Given the description of an element on the screen output the (x, y) to click on. 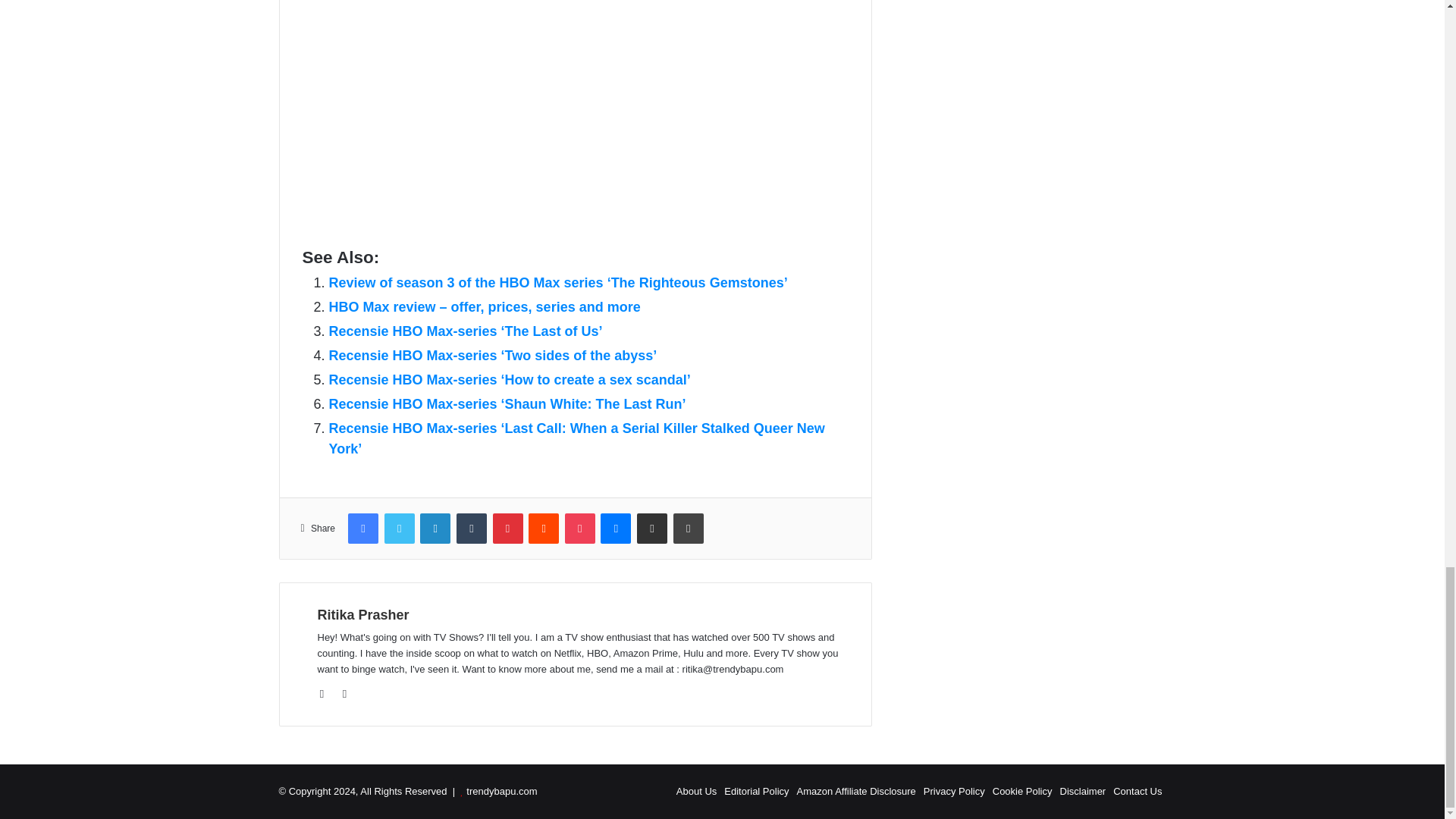
Facebook (362, 528)
Share via Email (651, 528)
Facebook (362, 528)
Pocket (579, 528)
Print (687, 528)
Twitter (399, 528)
Messenger (614, 528)
Reddit (543, 528)
Twitter (399, 528)
LinkedIn (434, 528)
